Given the description of an element on the screen output the (x, y) to click on. 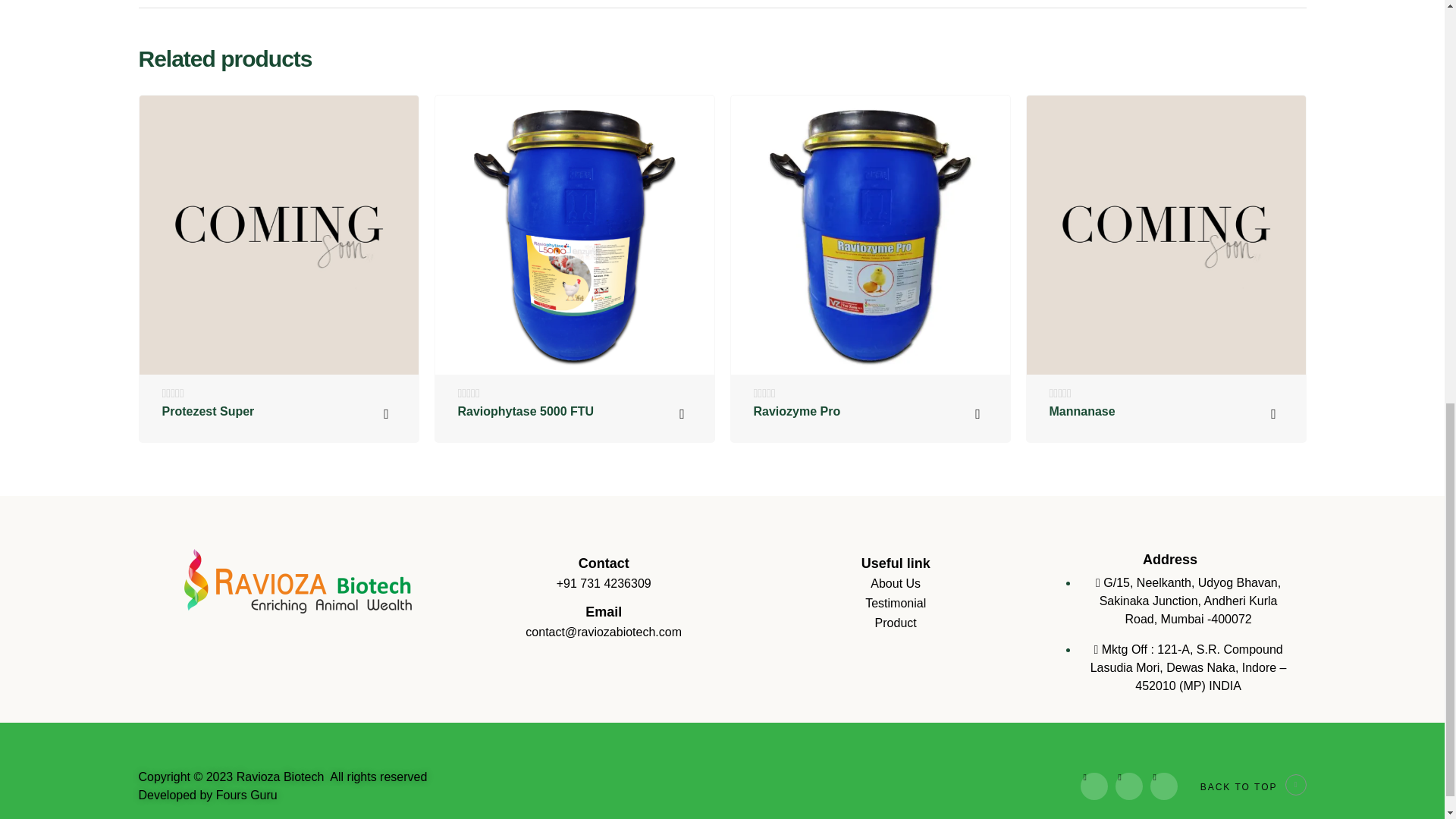
Read More (386, 413)
Read More (681, 413)
Protezest Super (207, 410)
Raviophytase 5000 FTU (526, 410)
